Given the description of an element on the screen output the (x, y) to click on. 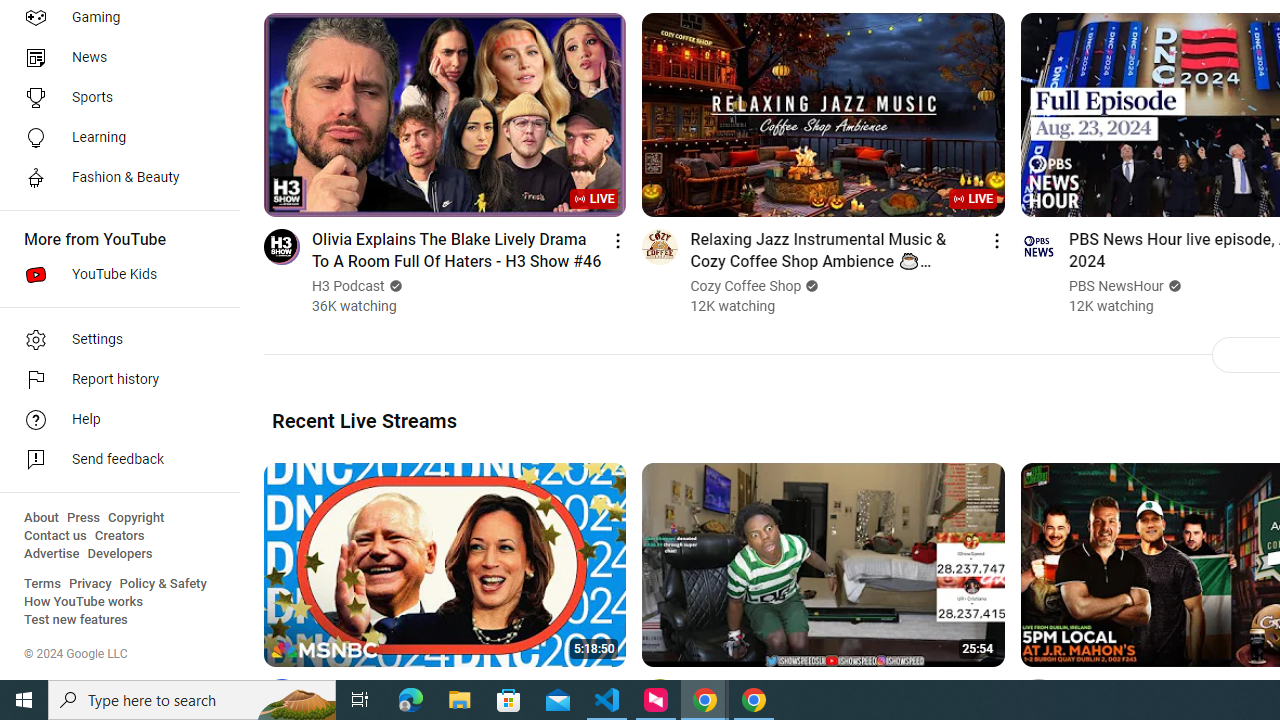
Press (83, 518)
Test new features (76, 620)
Verified (1172, 286)
About (41, 518)
YouTube Kids (113, 274)
Sports (113, 97)
Report history (113, 380)
Cozy Coffee Shop (745, 285)
Developers (120, 554)
H3 Podcast (349, 285)
Contact us (55, 536)
Copyright (136, 518)
